Given the description of an element on the screen output the (x, y) to click on. 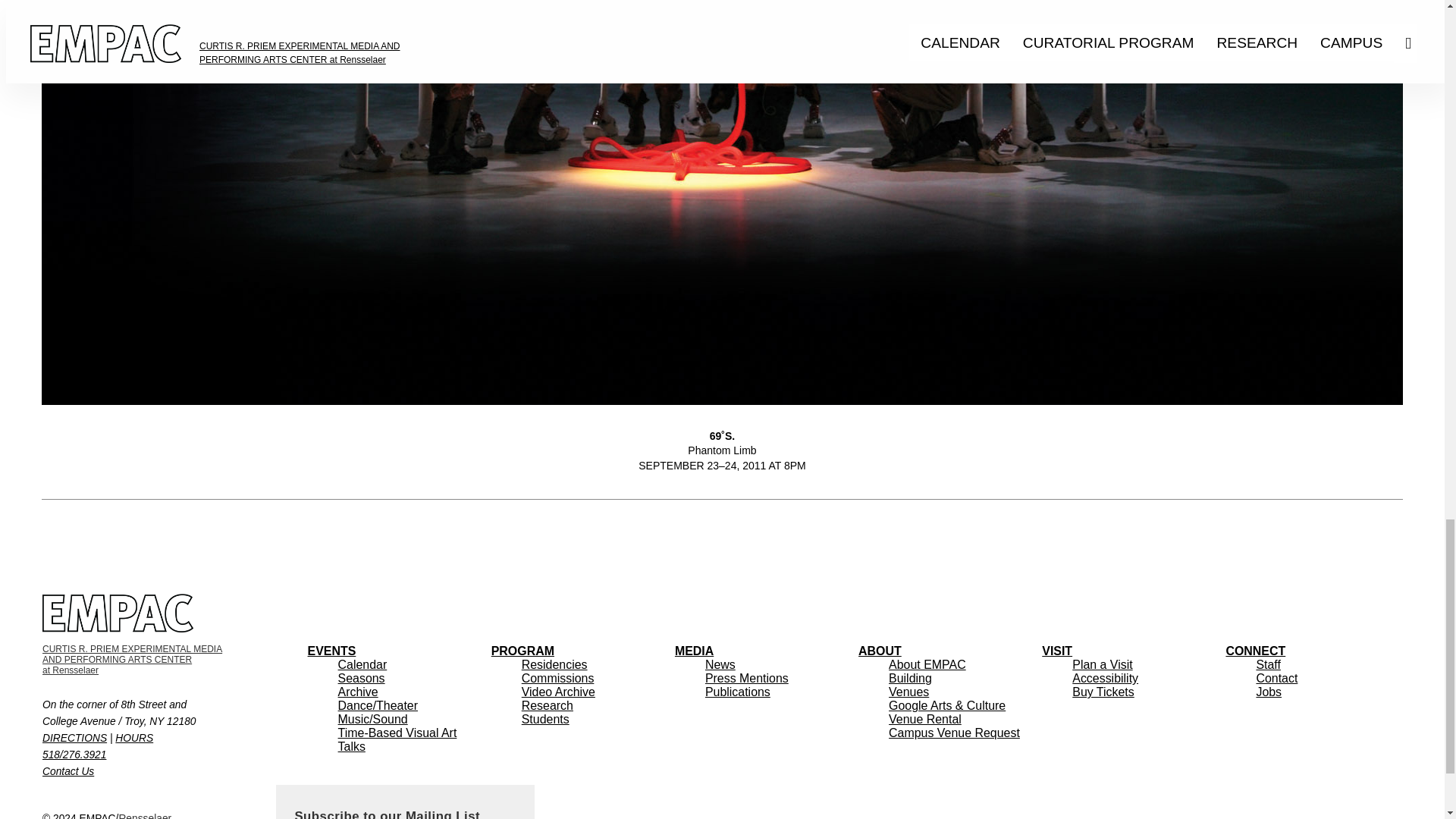
Video Archive (557, 691)
Talks and Lectures (351, 746)
DIRECTIONS (74, 737)
Contact Us (68, 771)
HOURS (133, 737)
Time-Based Visual Art Events (106, 816)
Music and Sound events (397, 732)
